Given the description of an element on the screen output the (x, y) to click on. 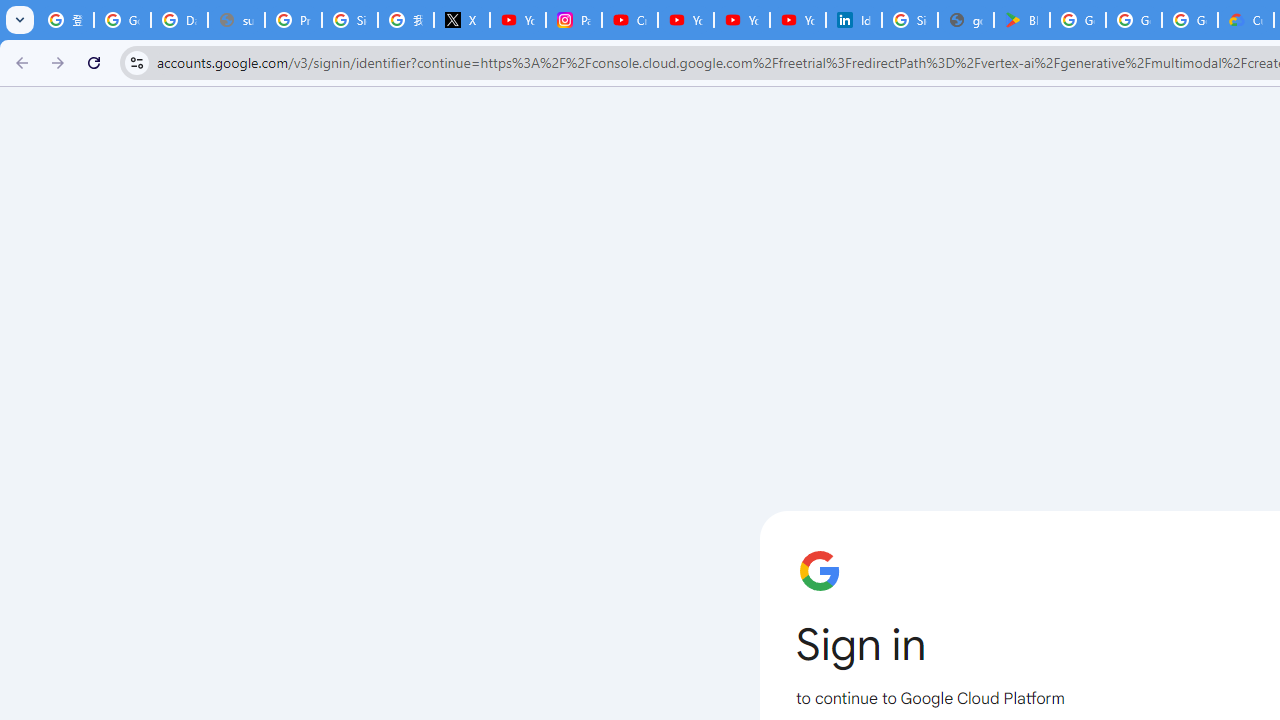
support.google.com - Network error (235, 20)
Sign in - Google Accounts (349, 20)
Privacy Help Center - Policies Help (293, 20)
YouTube Content Monetization Policies - How YouTube Works (518, 20)
Google Workspace - Specific Terms (1133, 20)
YouTube Culture & Trends - YouTube Top 10, 2021 (797, 20)
